Given the description of an element on the screen output the (x, y) to click on. 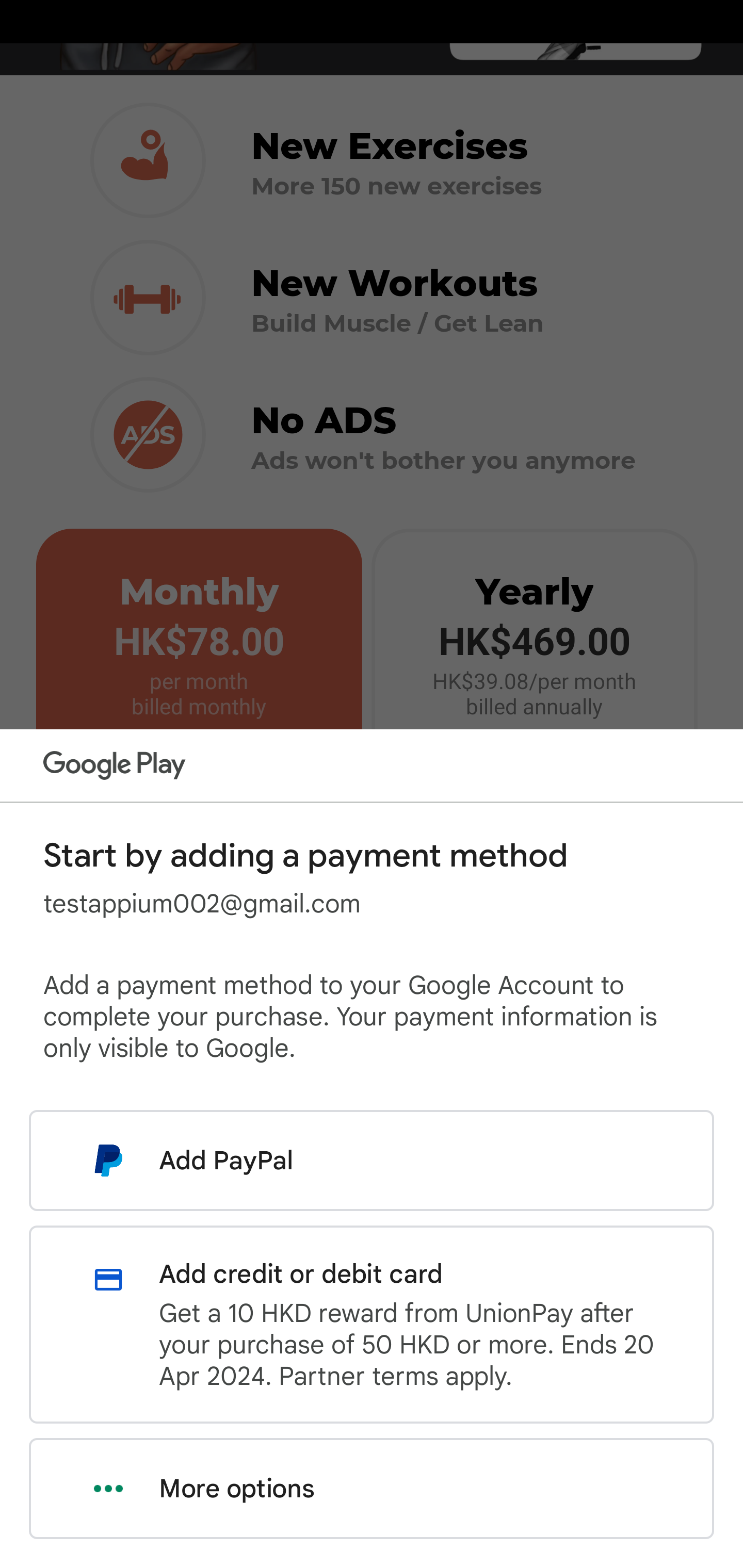
Add PayPal (371, 1160)
More options (371, 1488)
